Given the description of an element on the screen output the (x, y) to click on. 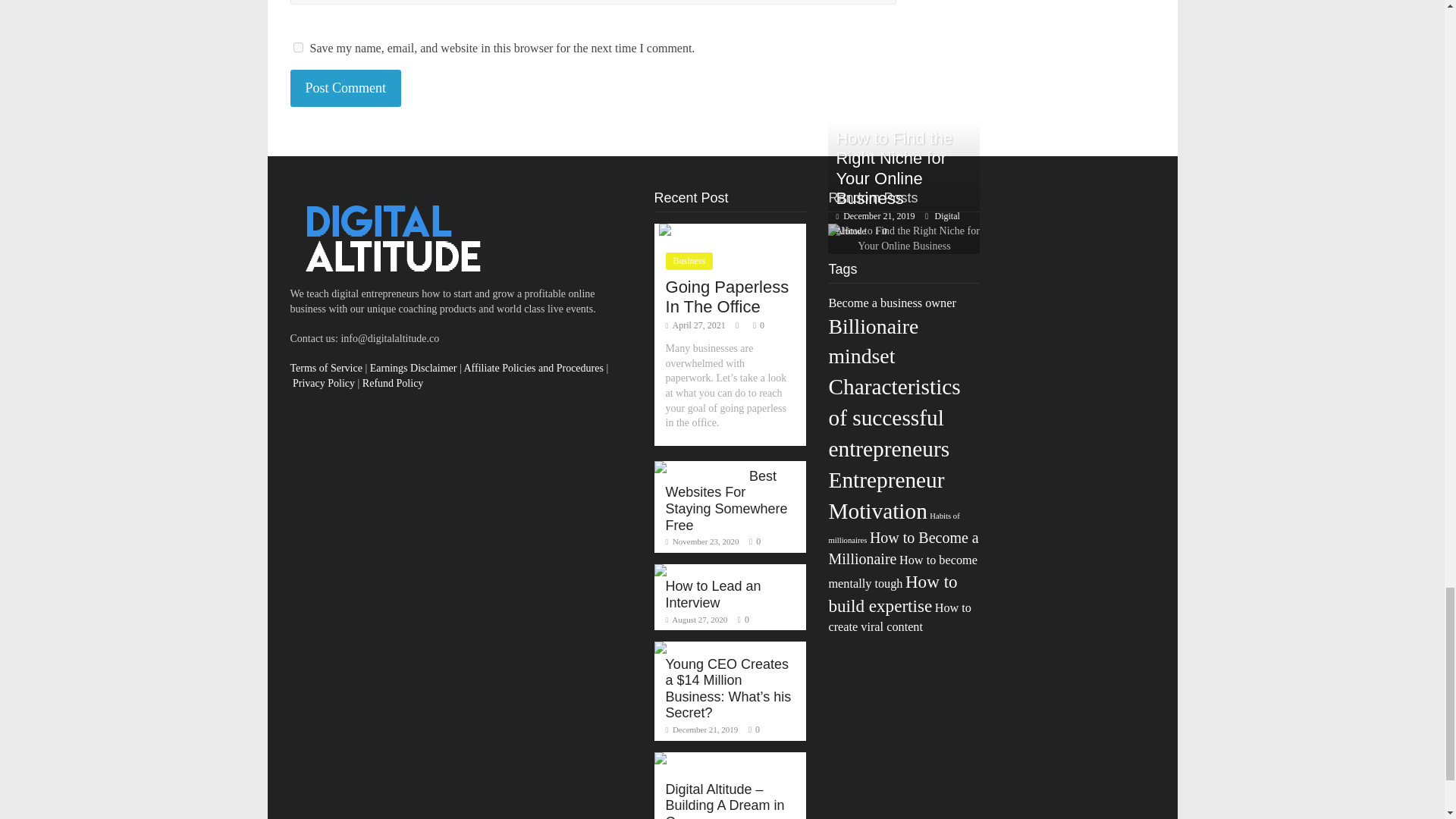
Post Comment (345, 88)
yes (297, 47)
Post Comment (345, 88)
